Given the description of an element on the screen output the (x, y) to click on. 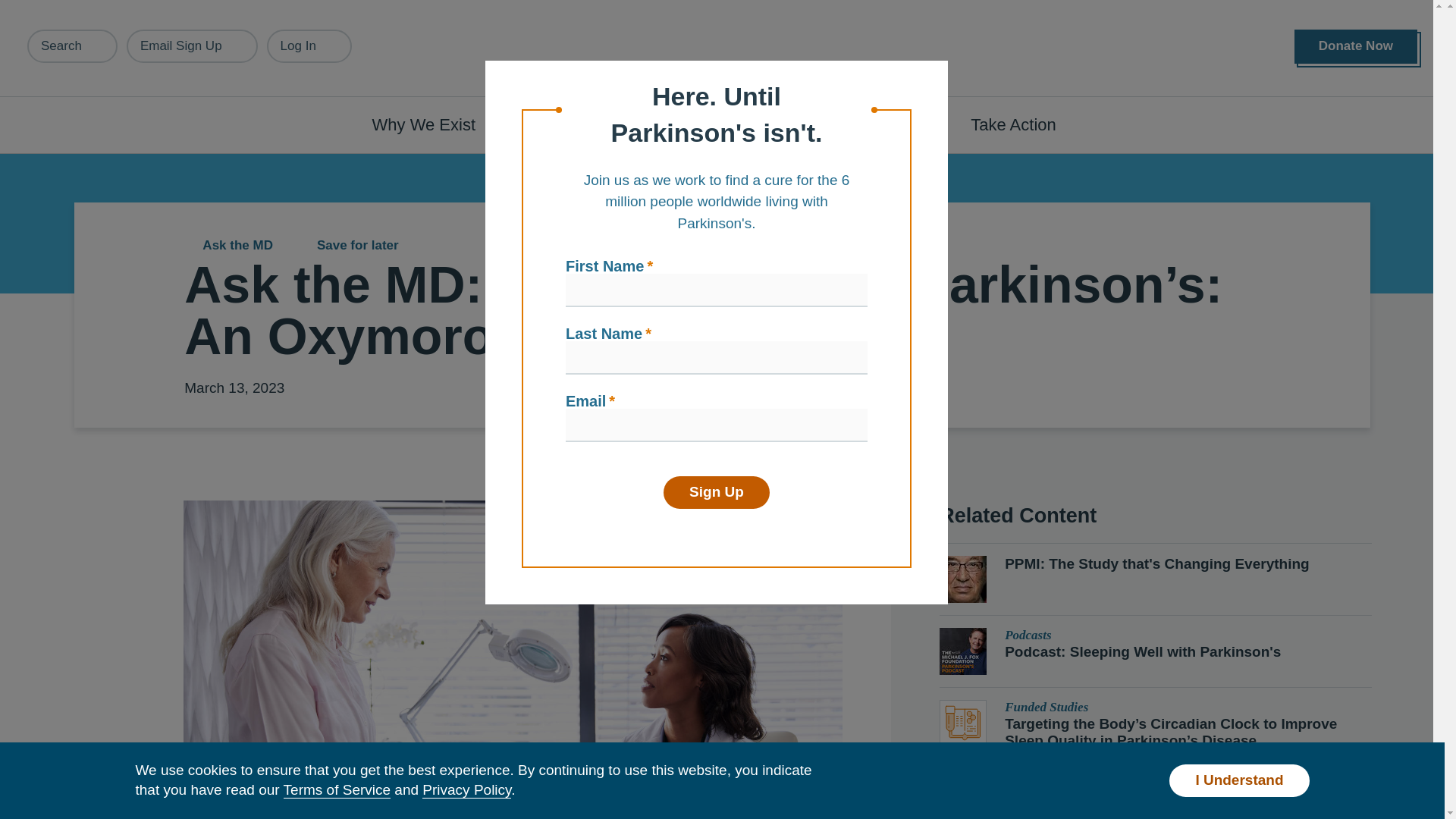
Understanding Parkinson's (640, 125)
Donate Now (1355, 46)
Skip to main content (96, 7)
Why We Exist (432, 125)
Home Page (722, 48)
Log In (309, 46)
Search (72, 46)
Email Sign Up (191, 46)
